Given the description of an element on the screen output the (x, y) to click on. 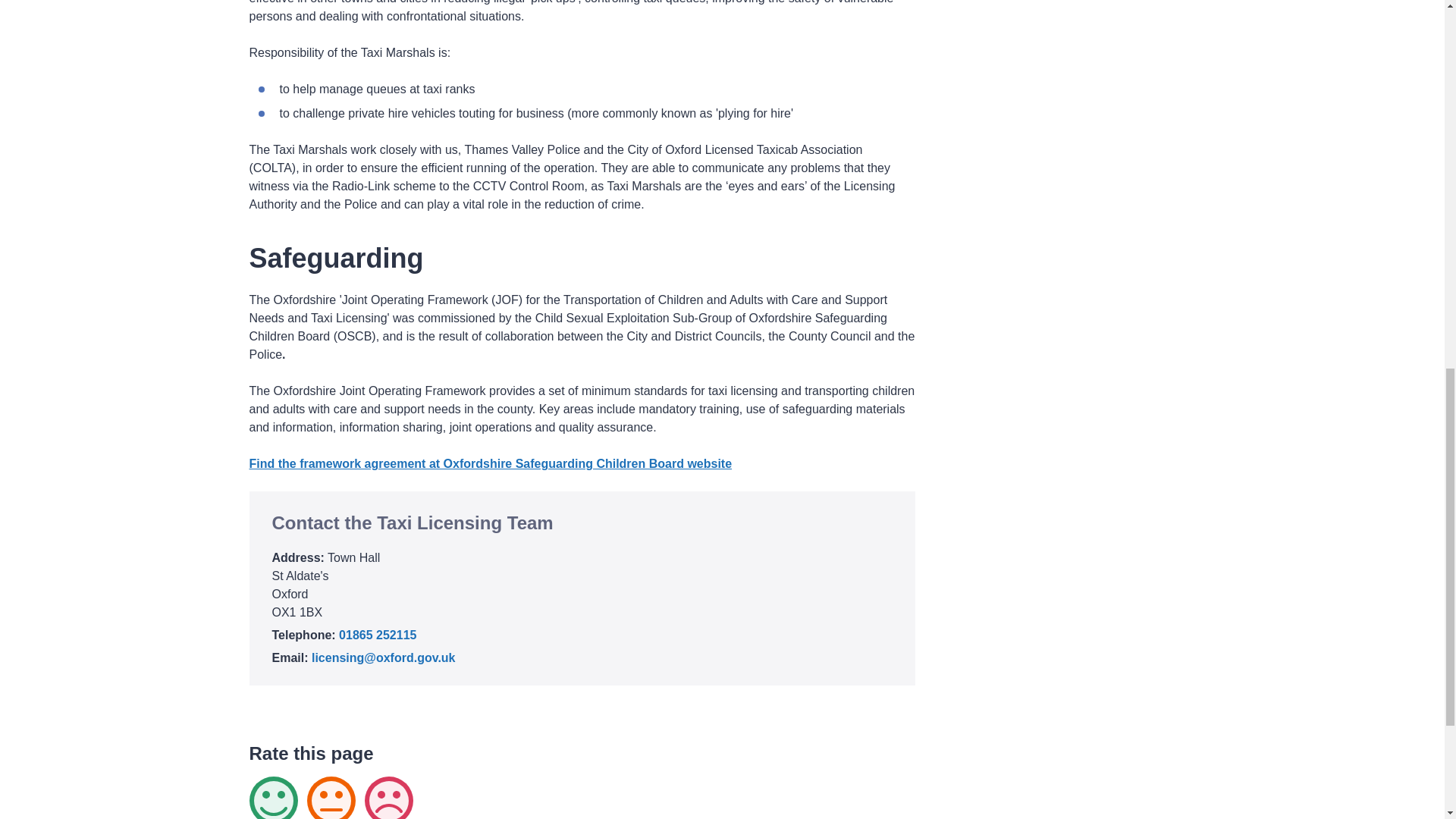
Rate this page as Average (330, 797)
Rate this page as Poor (388, 797)
Rate this page as Good (272, 797)
